Given the description of an element on the screen output the (x, y) to click on. 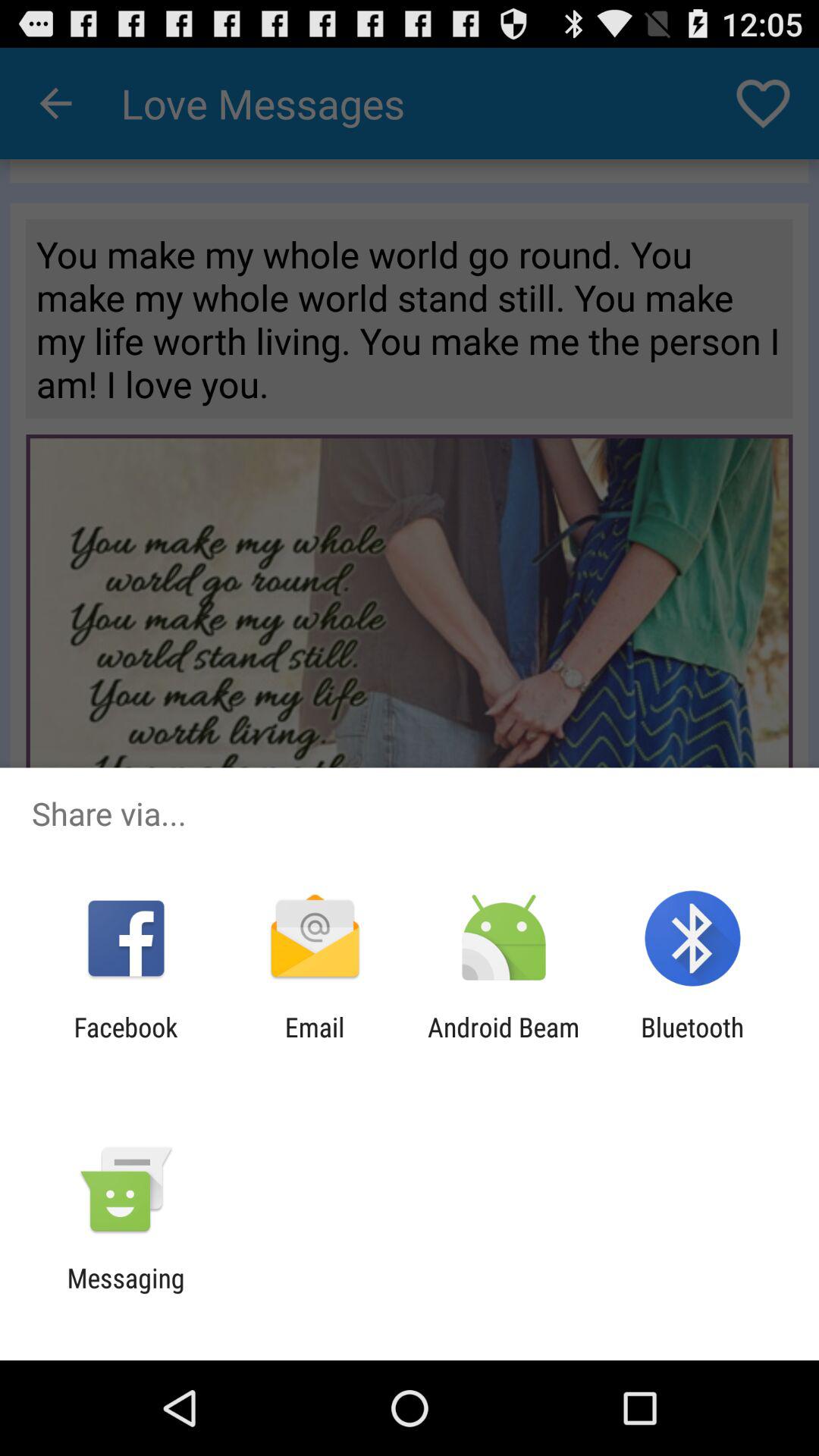
choose the app to the left of bluetooth icon (503, 1042)
